Given the description of an element on the screen output the (x, y) to click on. 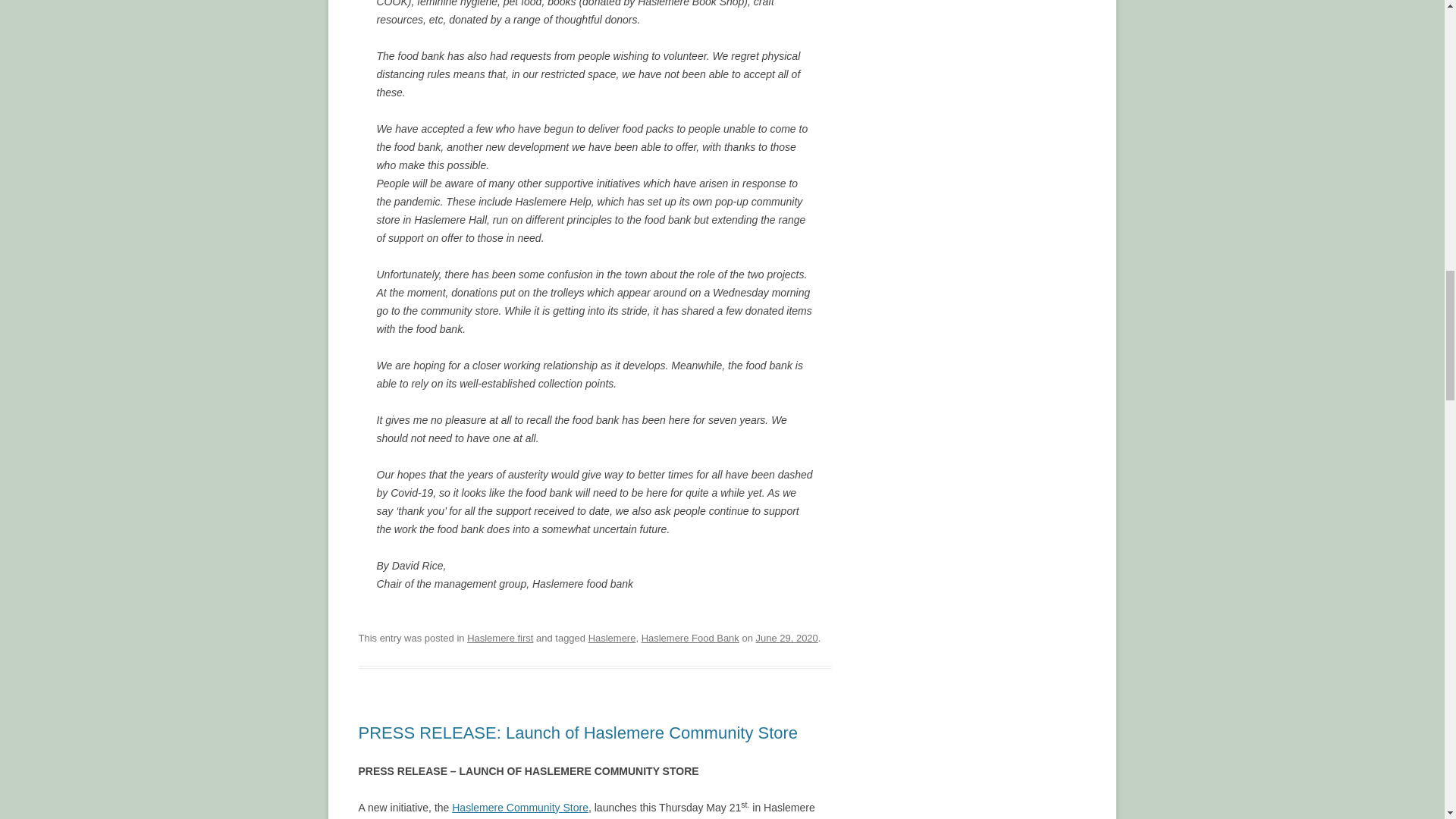
Haslemere Community Store (519, 807)
June 29, 2020 (785, 637)
Haslemere Food Bank (690, 637)
Haslemere (612, 637)
PRESS RELEASE: Launch of Haslemere Community Store (577, 732)
Haslemere first (499, 637)
2:08 pm (785, 637)
